Given the description of an element on the screen output the (x, y) to click on. 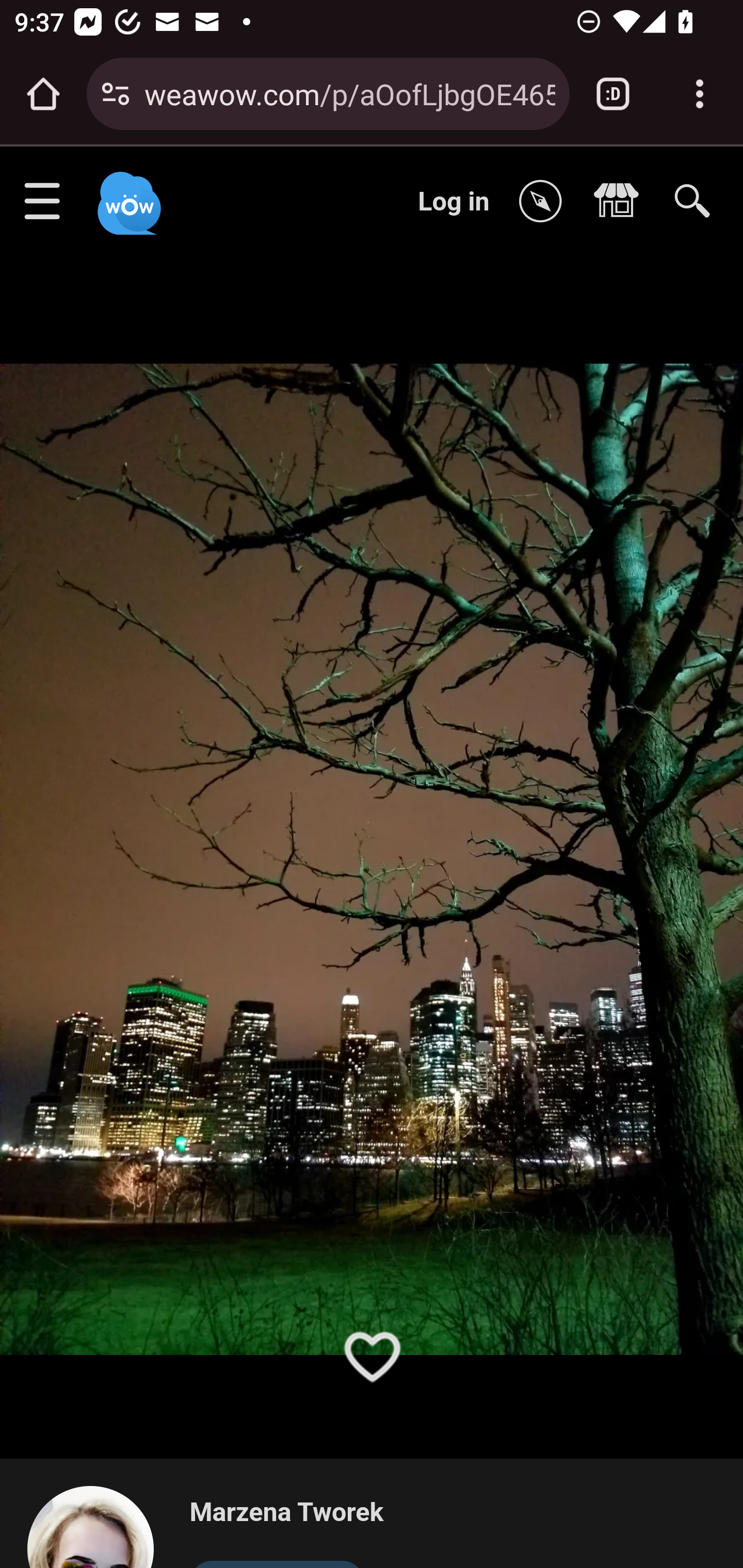
Open the home page (43, 93)
Connection is secure (115, 93)
Switch or close tabs (612, 93)
Customize and control Google Chrome (699, 93)
weawow.com/p/aOofLjbgOE46530 (349, 92)
Weawow (127, 194)
 (545, 201)
 (621, 201)
Log in (453, 201)
Marzena Tworek (285, 1513)
